Given the description of an element on the screen output the (x, y) to click on. 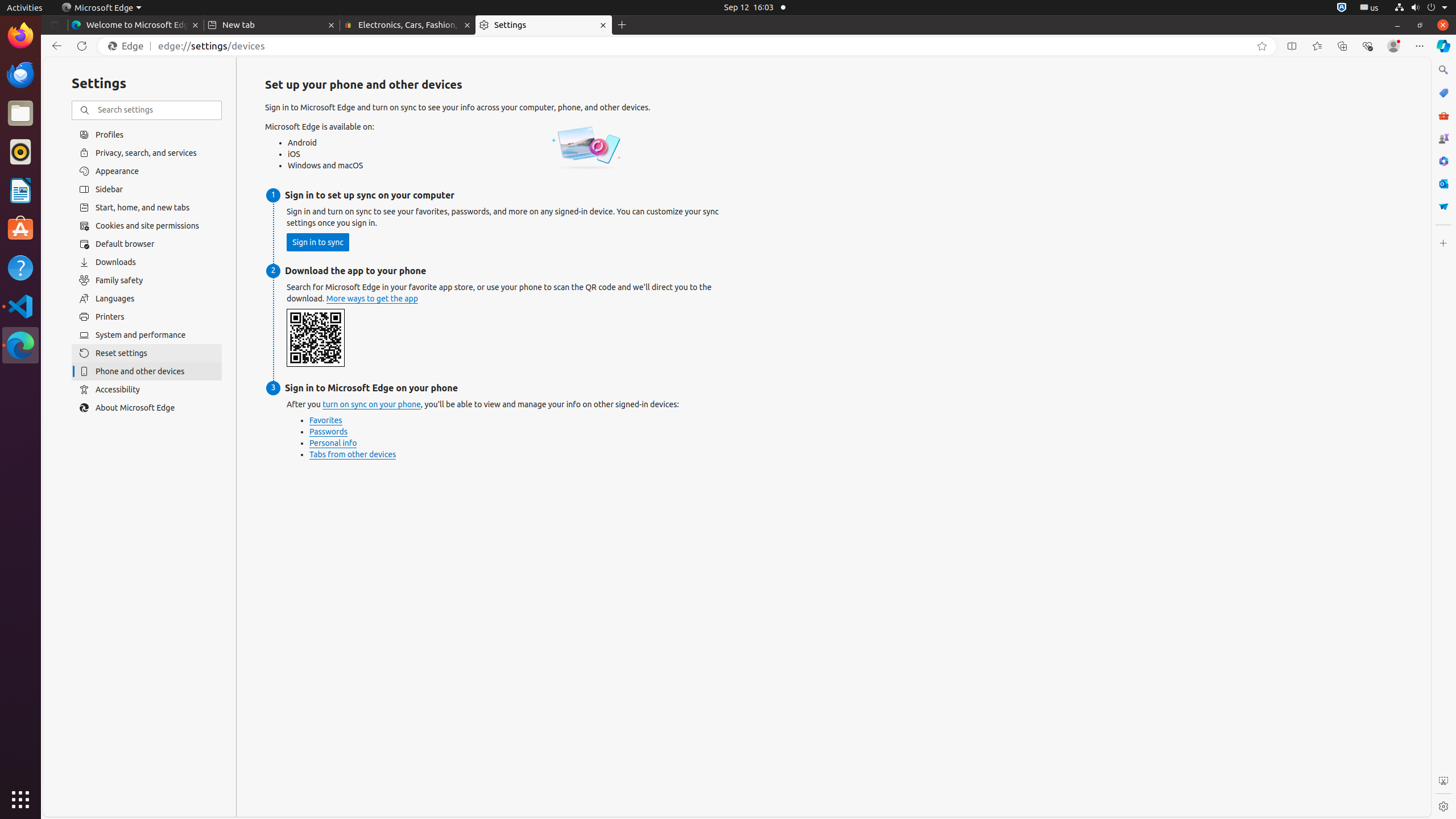
Electronics, Cars, Fashion, Collectibles & More | eBay Element type: page-tab (407, 25)
Add this page to favorites (Ctrl+D) Element type: push-button (1261, 46)
Personal info Element type: link (333, 443)
System Element type: menu (1420, 7)
Help Element type: push-button (20, 267)
